Given the description of an element on the screen output the (x, y) to click on. 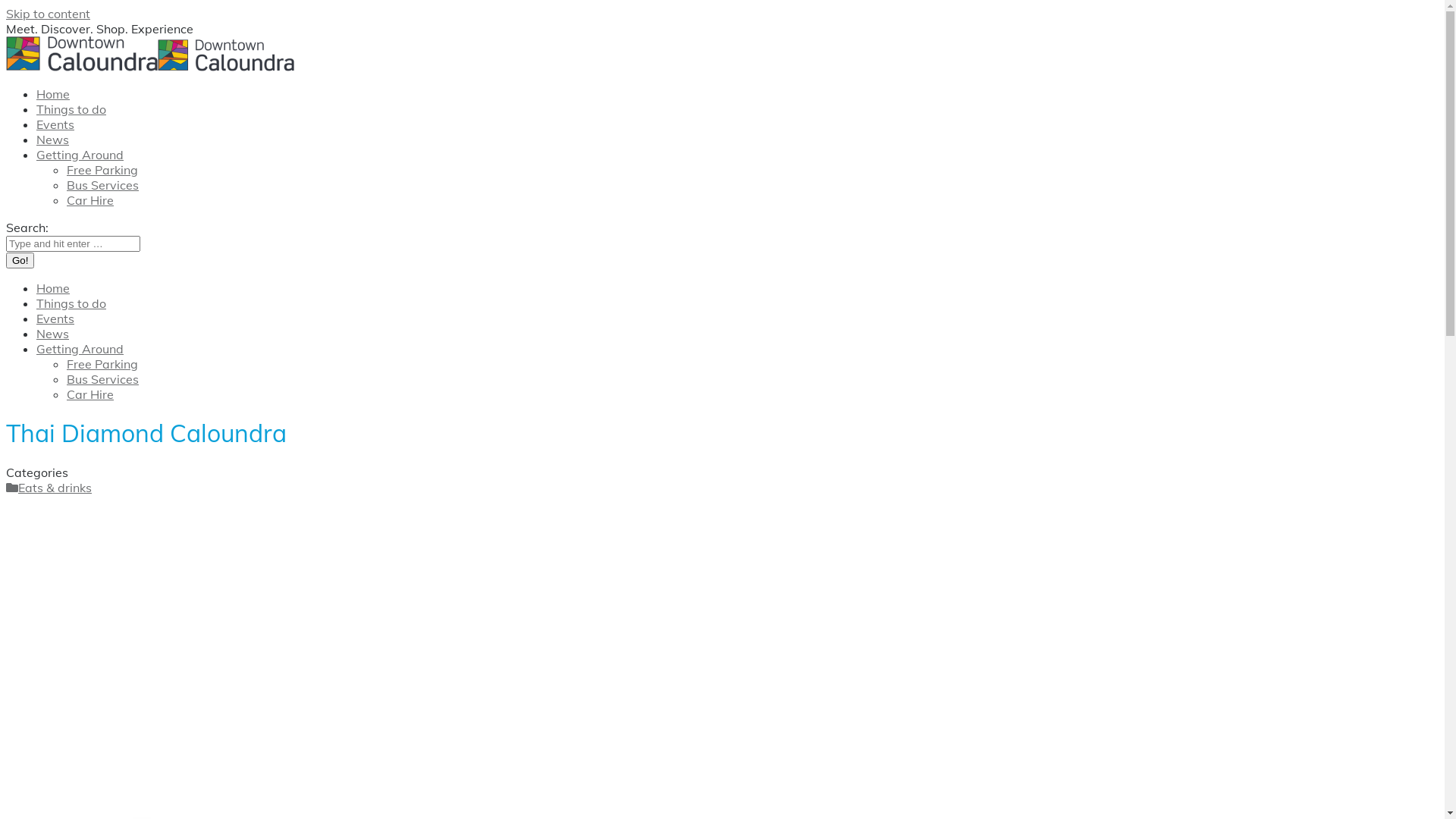
Bus Services Element type: text (102, 378)
Free Parking Element type: text (102, 169)
Eats & drinks Element type: text (48, 487)
Home Element type: text (52, 93)
Search form Element type: hover (73, 243)
Getting Around Element type: text (79, 348)
News Element type: text (52, 139)
Events Element type: text (55, 318)
Events Element type: text (55, 123)
Free Parking Element type: text (102, 363)
Getting Around Element type: text (79, 154)
News Element type: text (52, 333)
Things to do Element type: text (71, 108)
Bus Services Element type: text (102, 184)
Skip to content Element type: text (48, 13)
Home Element type: text (52, 287)
Car Hire Element type: text (89, 393)
Things to do Element type: text (71, 302)
Car Hire Element type: text (89, 199)
Go! Element type: text (20, 260)
